Given the description of an element on the screen output the (x, y) to click on. 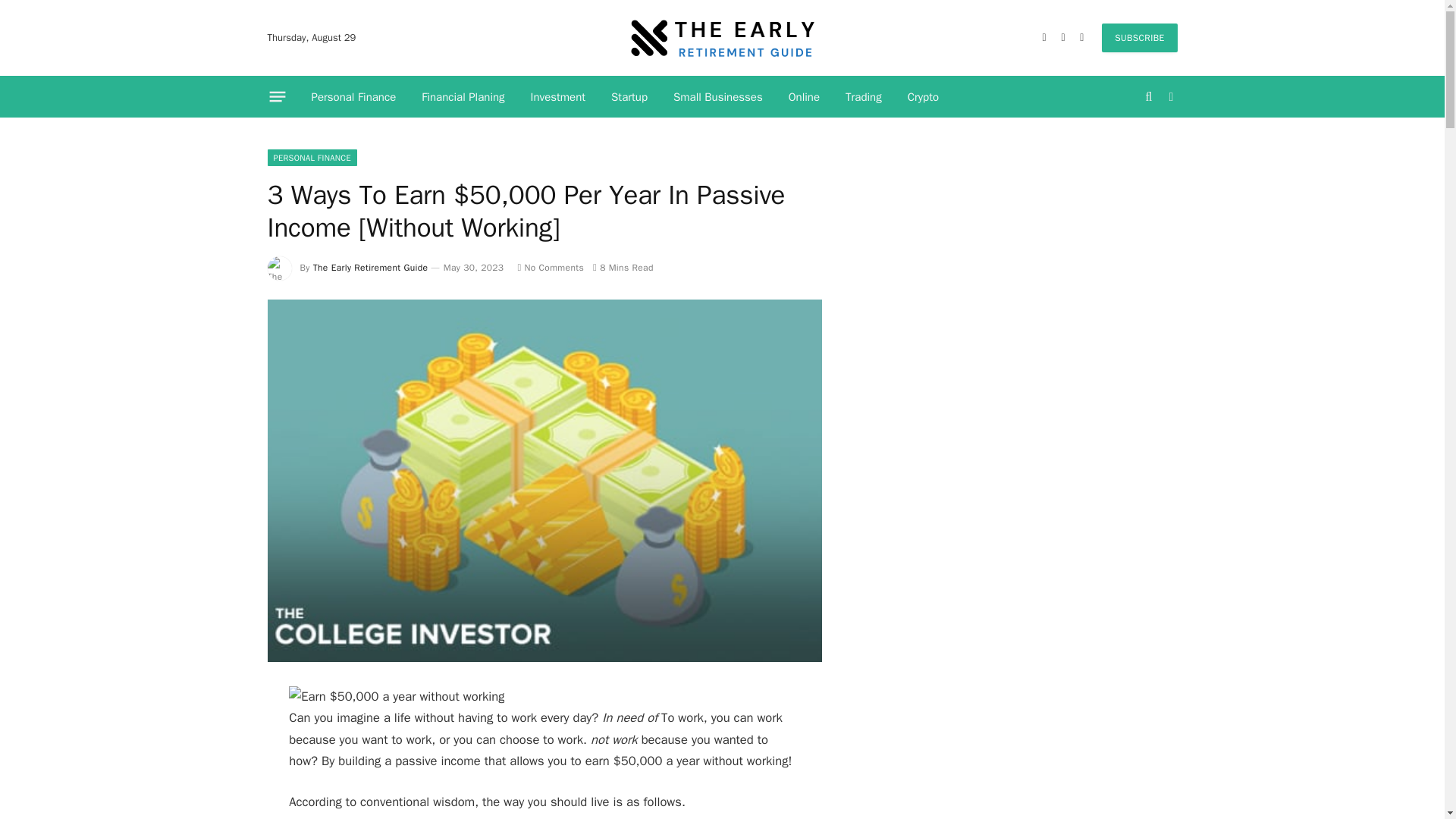
Small Businesses (718, 96)
Financial Planing (462, 96)
Posts by The Early Retirement Guide (370, 267)
Investment (558, 96)
Switch to Dark Design - easier on eyes. (1169, 96)
Crypto (923, 96)
The Early Retirement Guide (370, 267)
Startup (629, 96)
Trading (863, 96)
Personal Finance (353, 96)
